Given the description of an element on the screen output the (x, y) to click on. 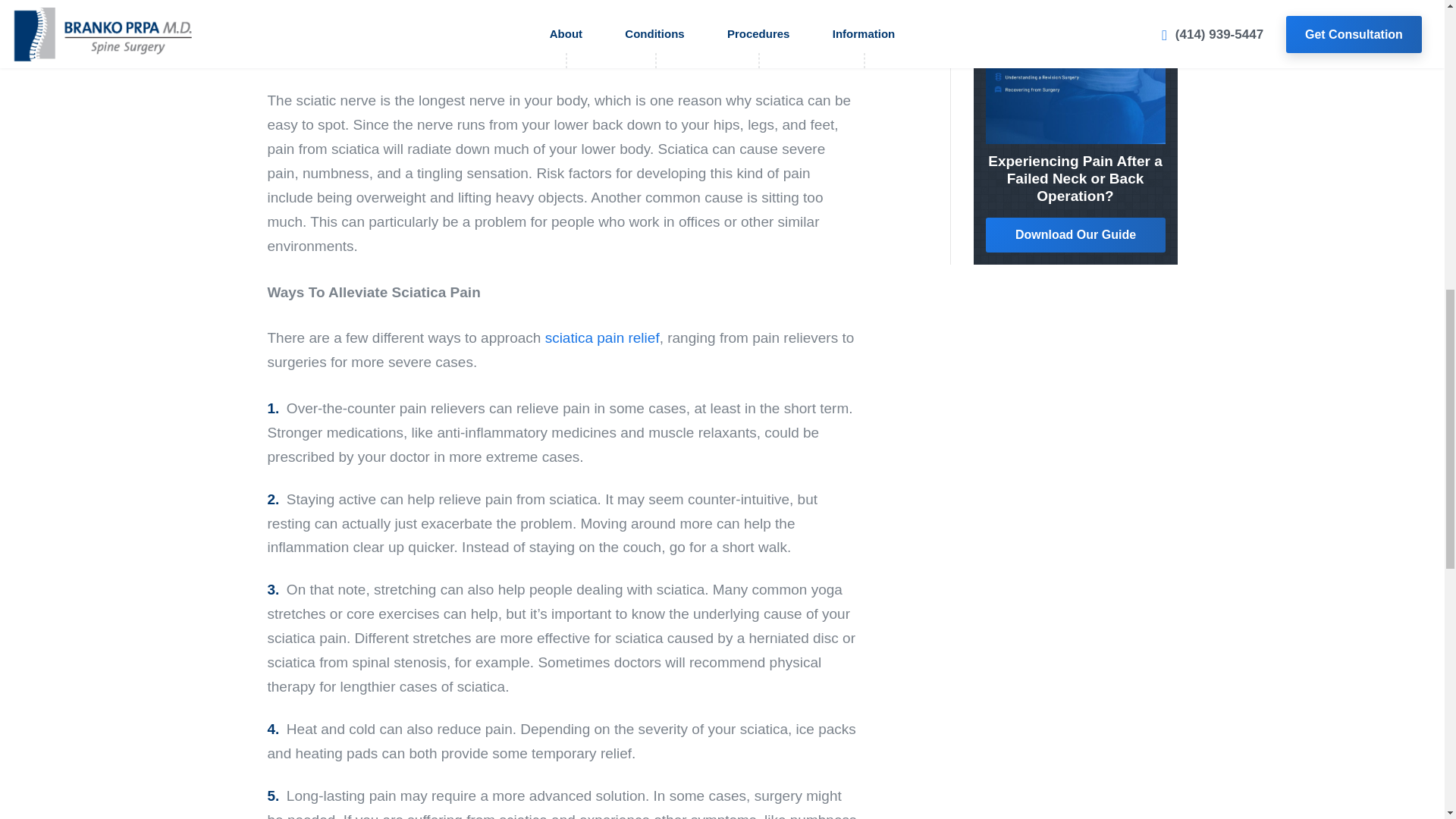
sciatica pain relief (601, 337)
sciatica pain relief (601, 337)
degenerative disc disease (549, 42)
spinal stenosis (313, 30)
